Given the description of an element on the screen output the (x, y) to click on. 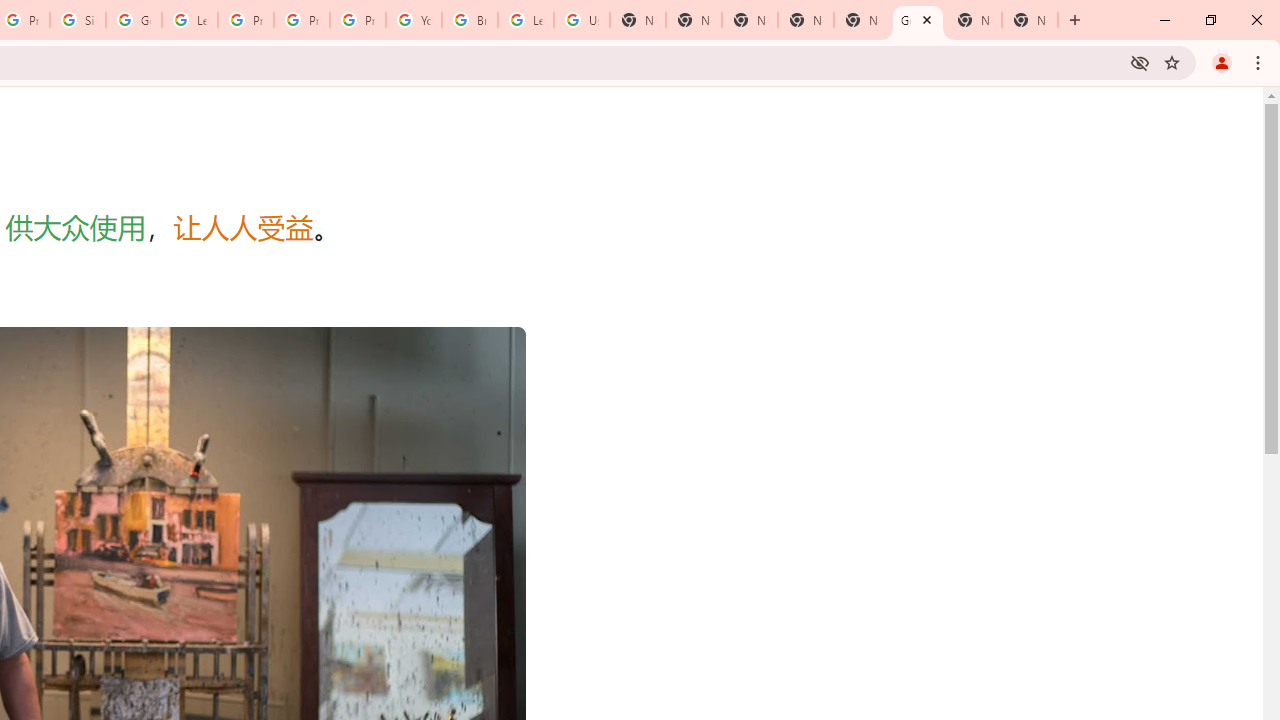
Browse Chrome as a guest - Computer - Google Chrome Help (469, 20)
Sign in - Google Accounts (77, 20)
Privacy Help Center - Policies Help (245, 20)
